Given the description of an element on the screen output the (x, y) to click on. 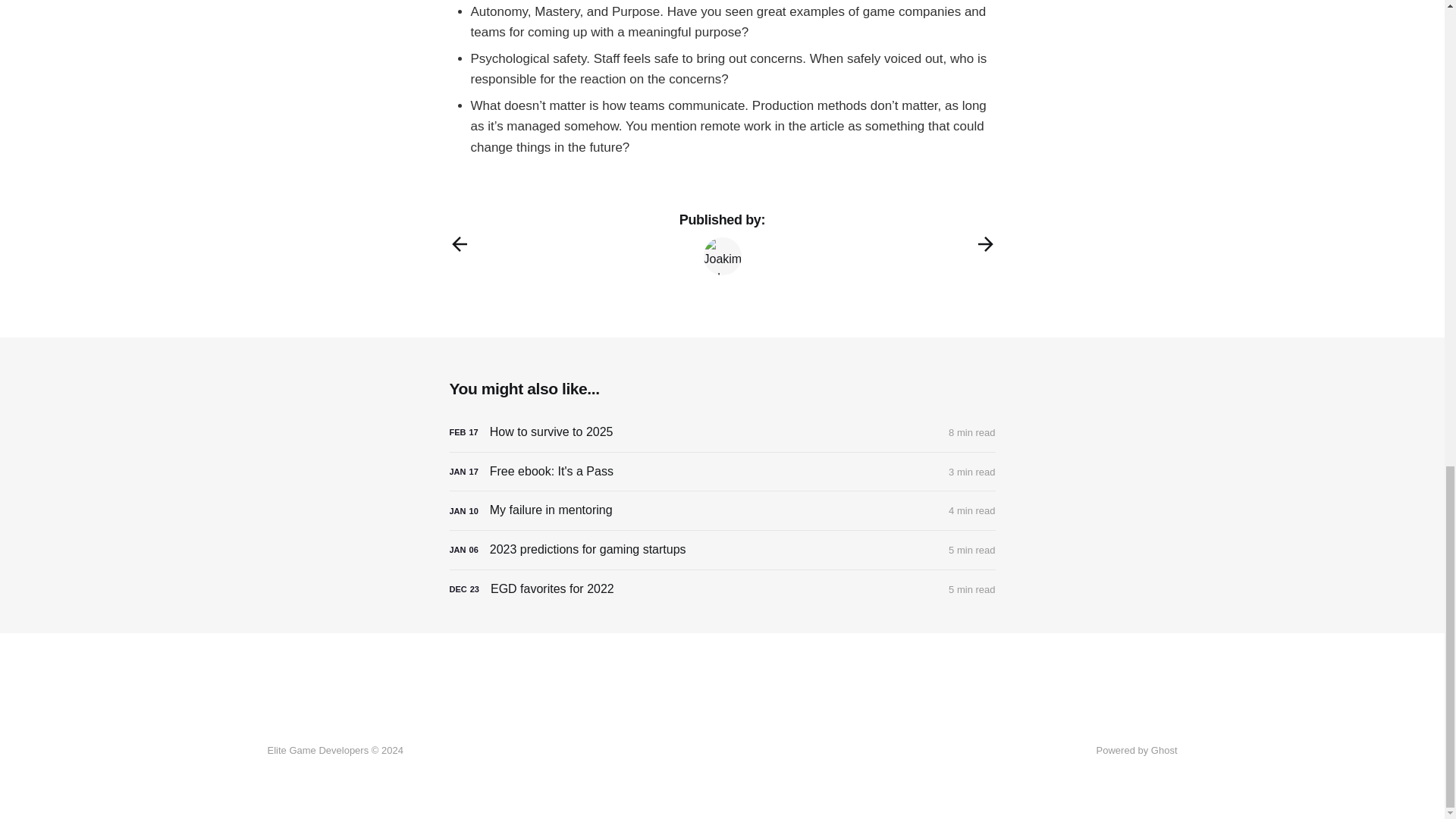
Powered by Ghost (1136, 749)
